Given the description of an element on the screen output the (x, y) to click on. 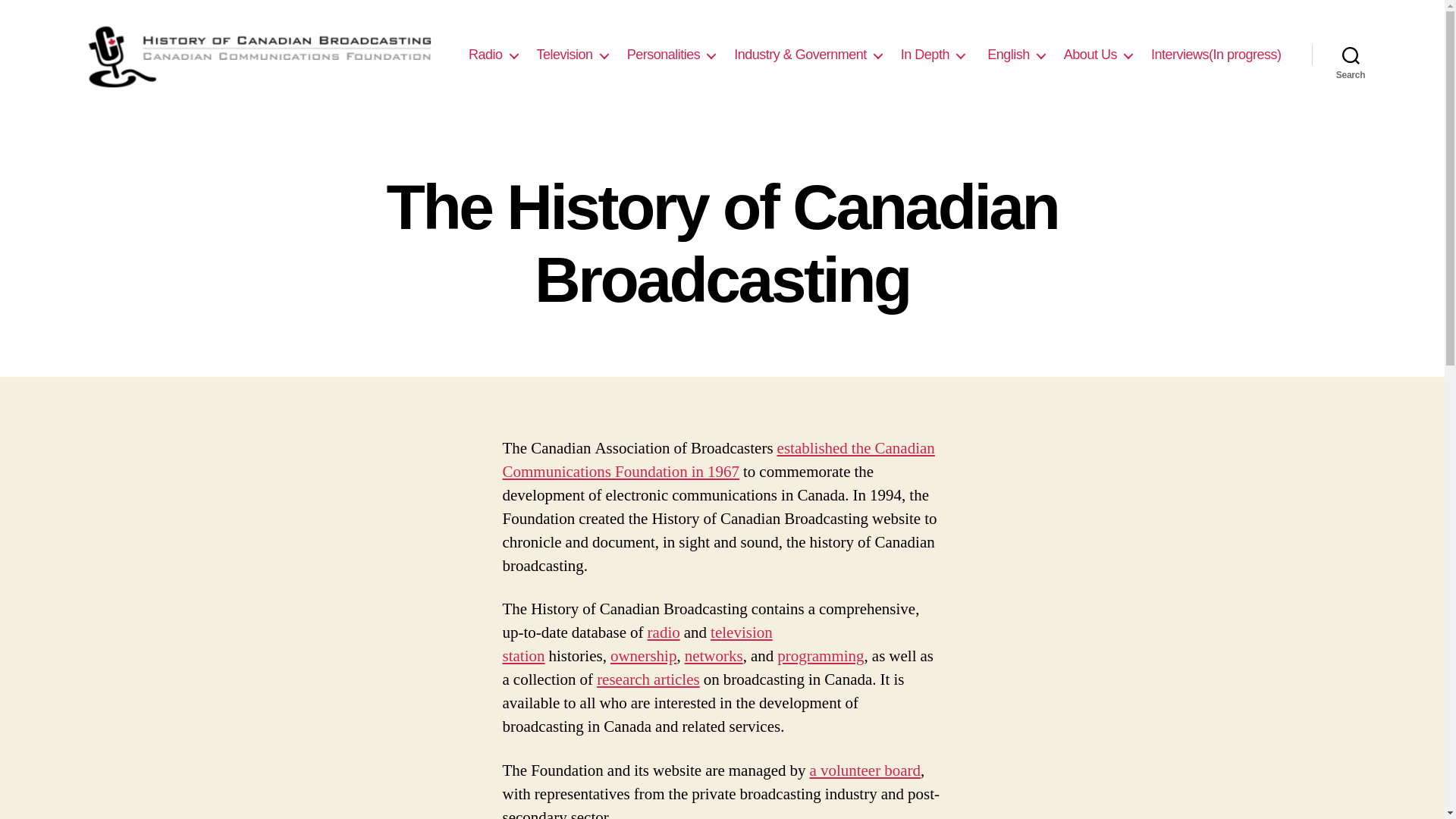
English (1014, 54)
About Us (1098, 54)
In Depth (932, 54)
Television (572, 54)
Radio (493, 54)
Personalities (671, 54)
